Given the description of an element on the screen output the (x, y) to click on. 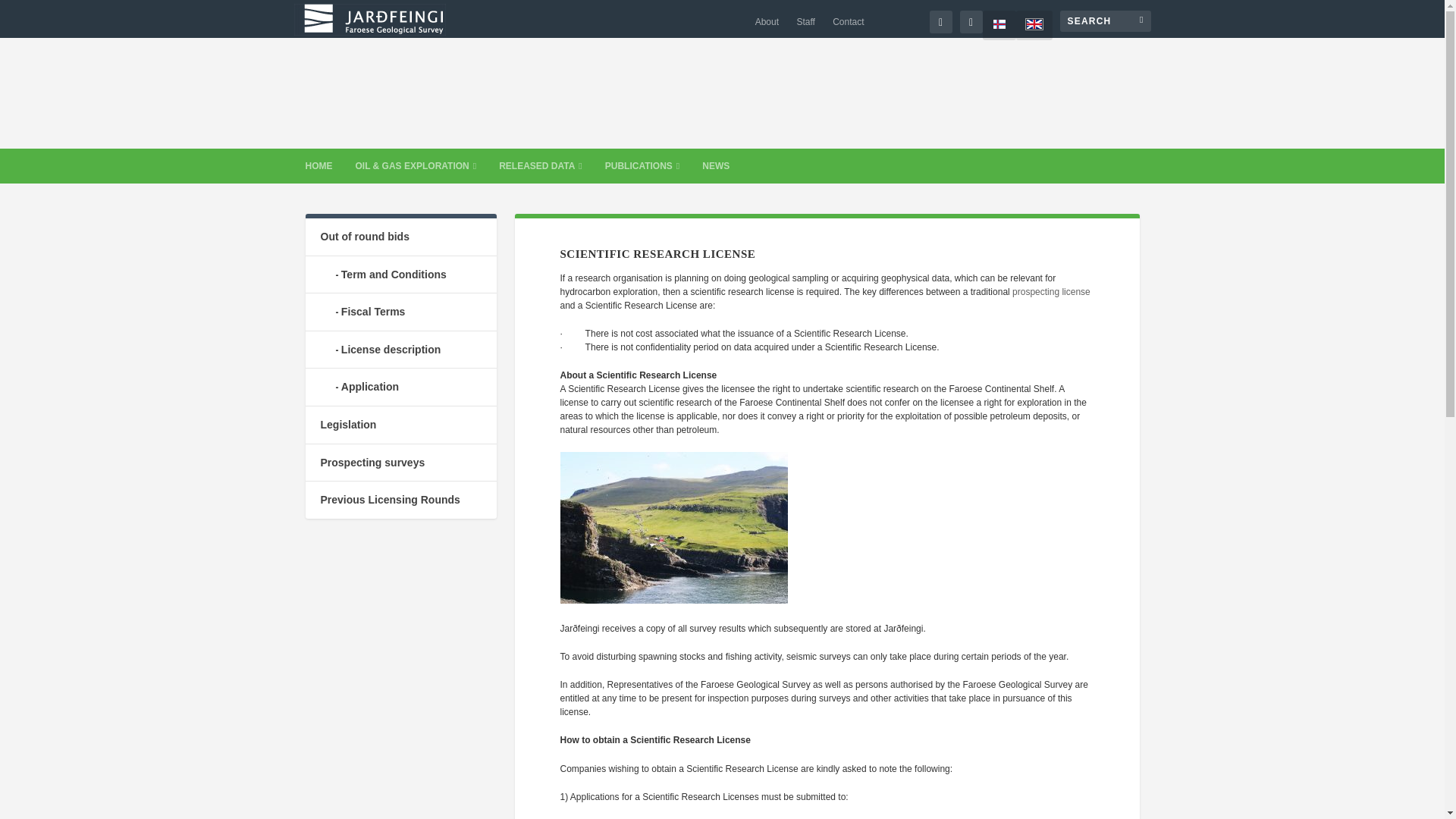
RELEASED DATA (540, 165)
Search for: (1105, 20)
PUBLICATIONS (642, 165)
prospecting license (1050, 291)
English (1034, 25)
fo (999, 25)
